Given the description of an element on the screen output the (x, y) to click on. 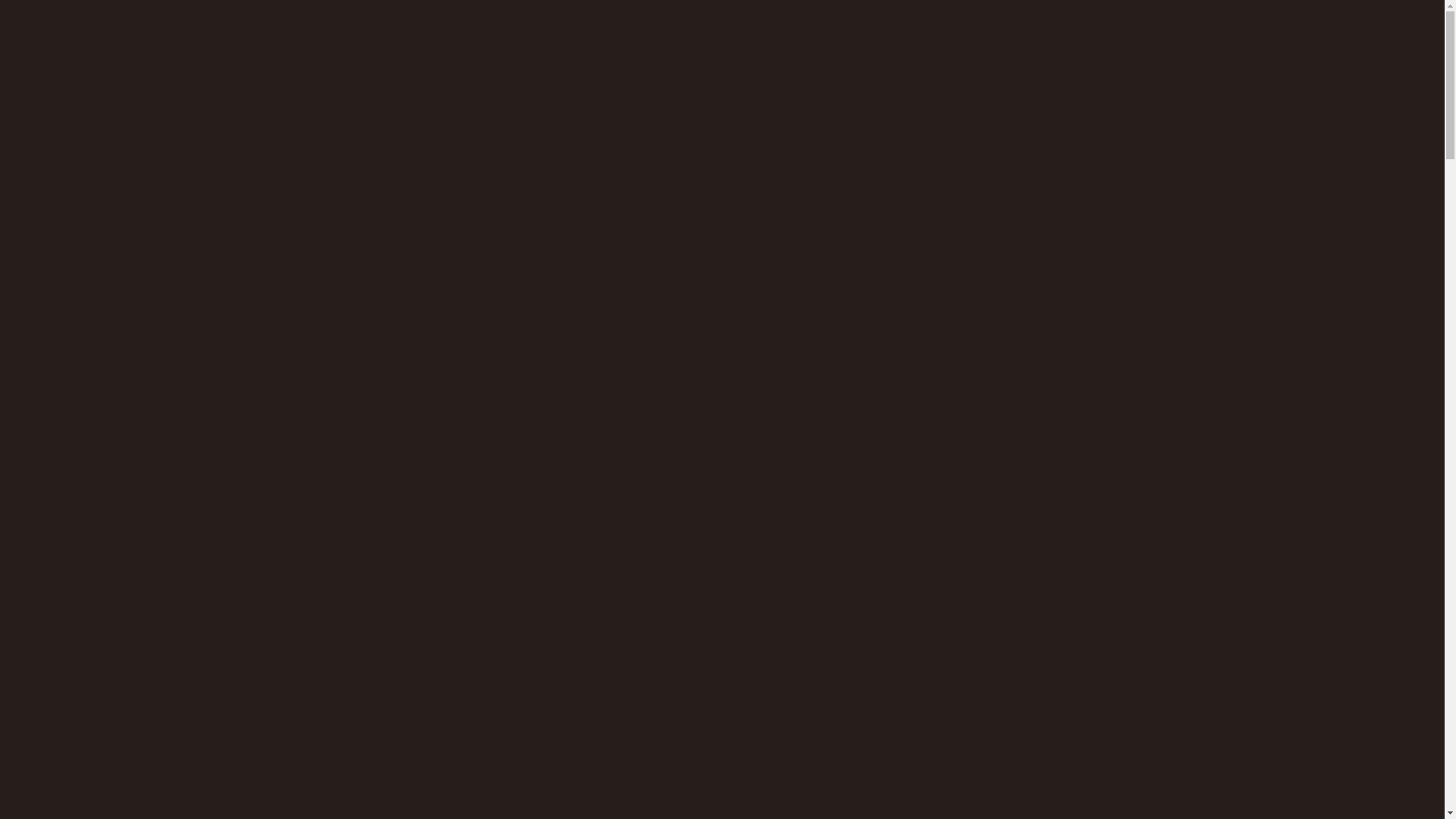
kremko-agro@tut.by Element type: text (635, 414)
https://cafe.kremko.by/ Element type: text (960, 547)
